Given the description of an element on the screen output the (x, y) to click on. 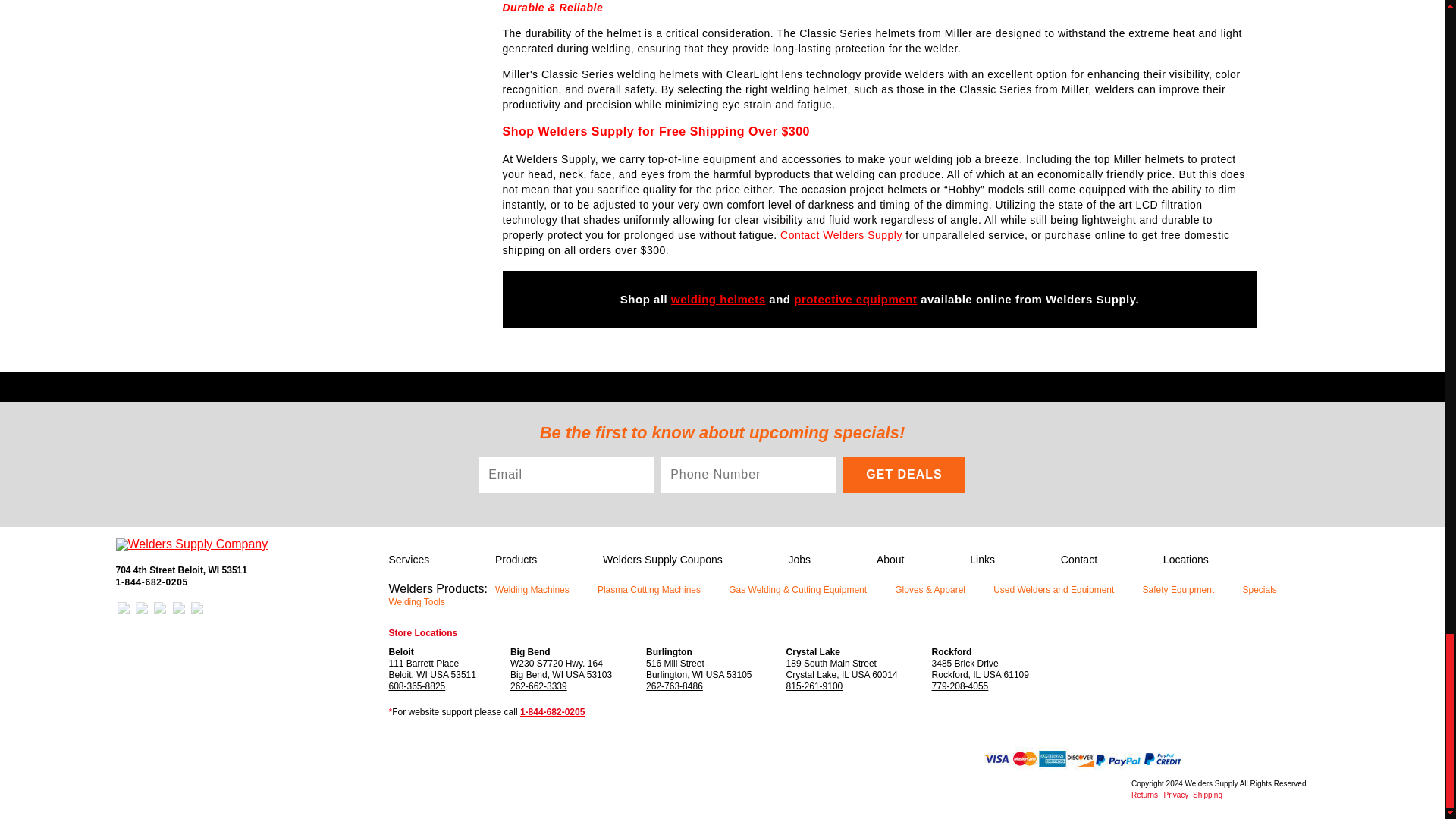
GET DEALS (904, 473)
